Given the description of an element on the screen output the (x, y) to click on. 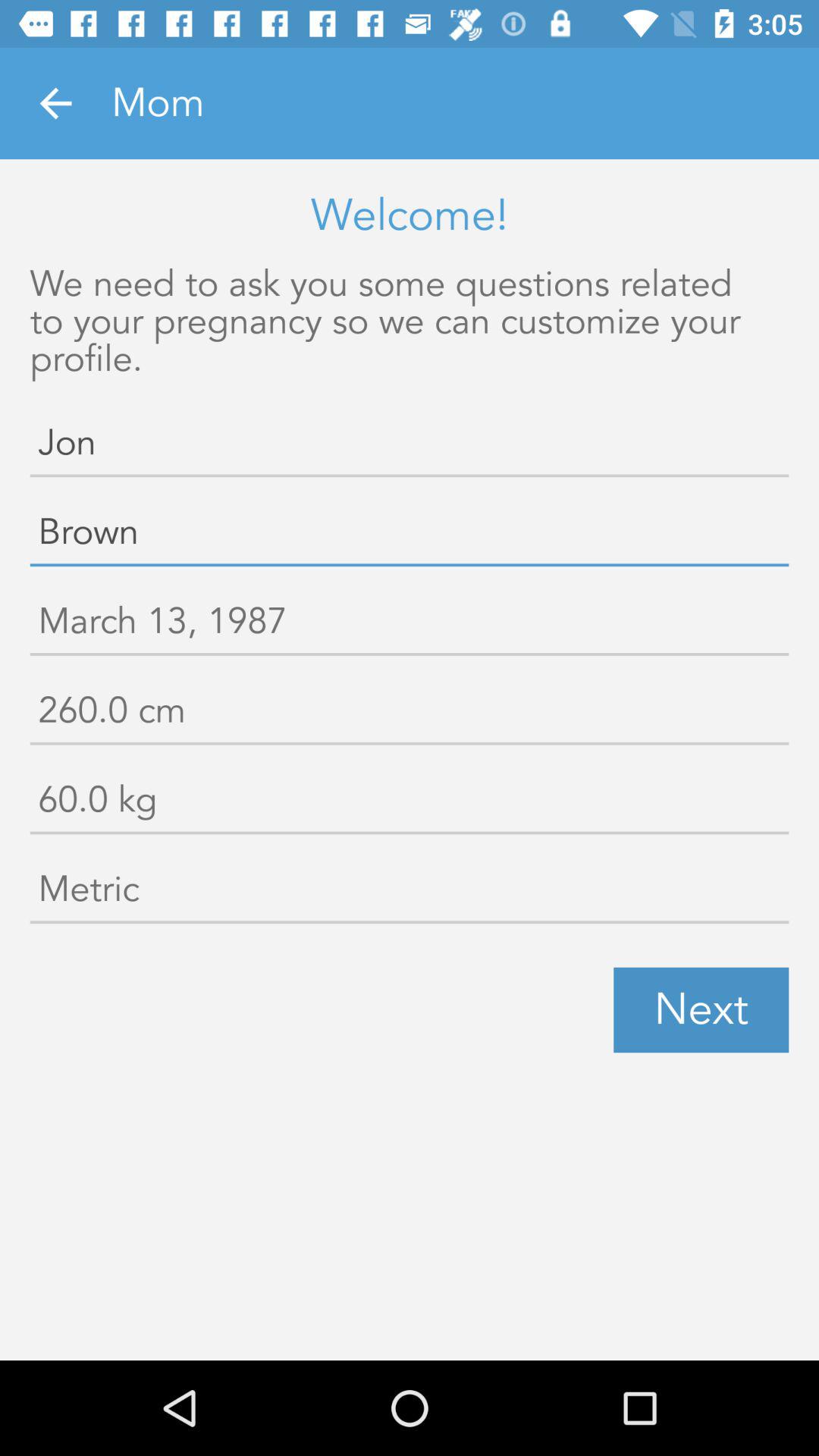
open the brown icon (409, 535)
